Given the description of an element on the screen output the (x, y) to click on. 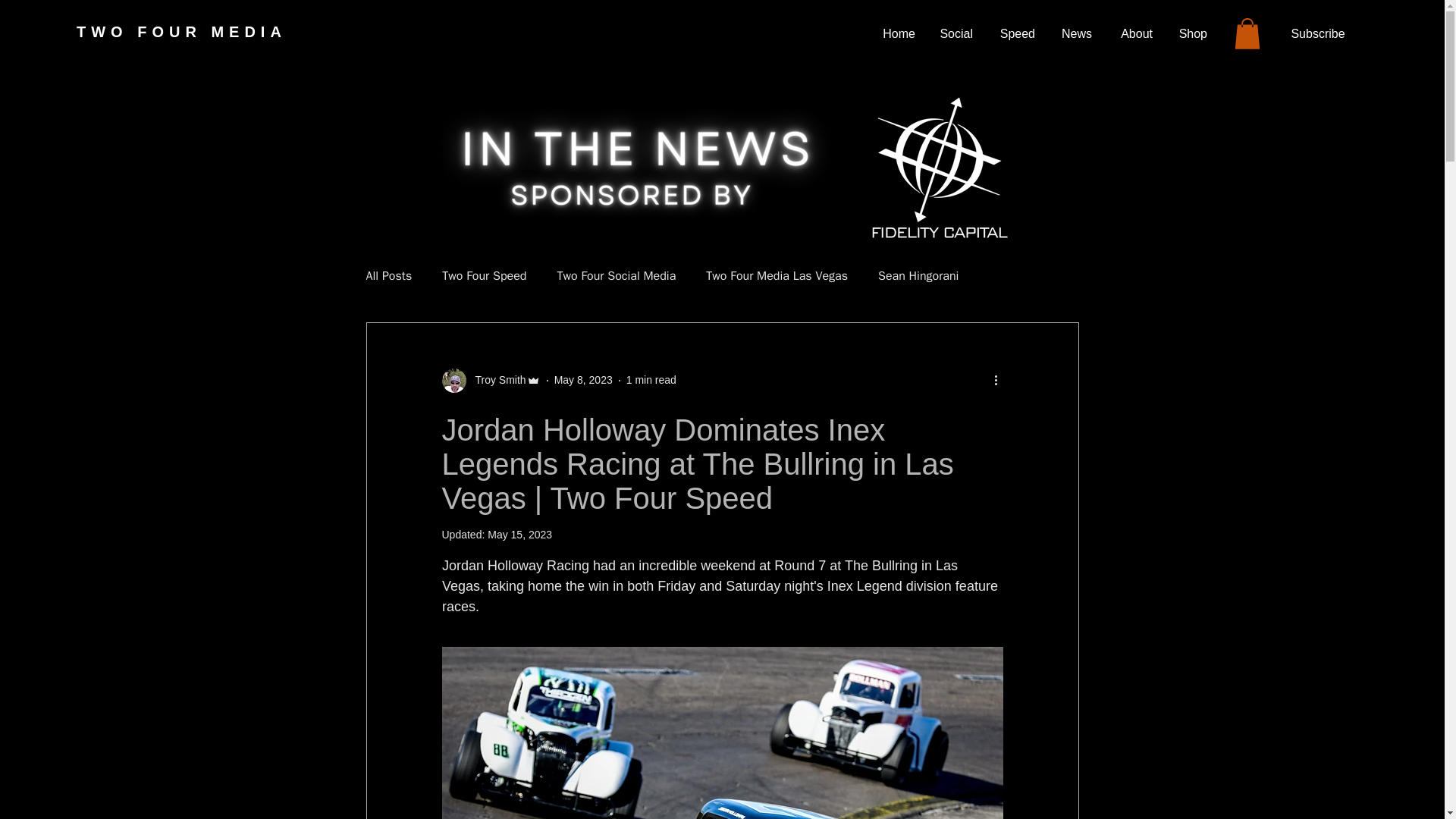
Home (896, 34)
News (1074, 34)
1 min read (651, 379)
Two Four Media Las Vegas (776, 276)
May 8, 2023 (583, 379)
Subscribe (1317, 33)
Two Four Speed (483, 276)
Troy Smith (495, 380)
TWO FOUR MEDIA (181, 31)
Two Four Social Media (615, 276)
All Posts (388, 276)
Speed (1015, 34)
May 15, 2023 (519, 534)
Troy Smith (490, 380)
Shop (1190, 34)
